Given the description of an element on the screen output the (x, y) to click on. 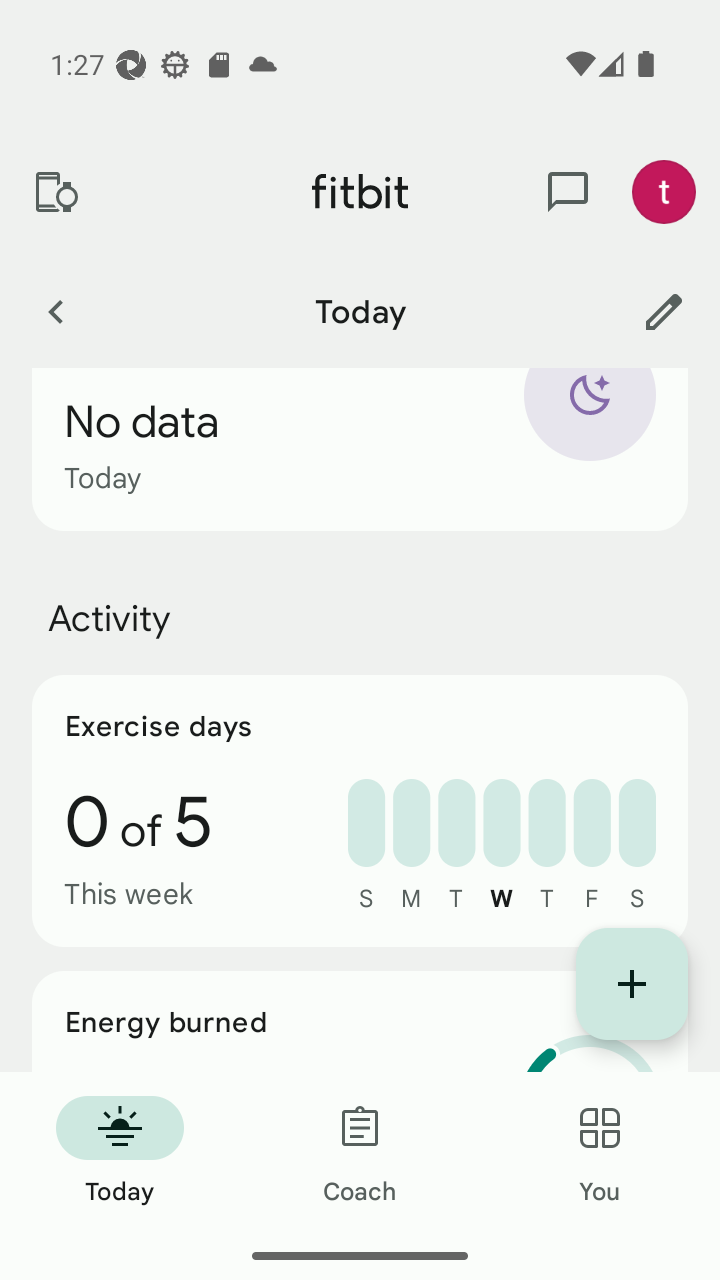
Devices and apps (55, 191)
messages and notifications (567, 191)
Previous Day (55, 311)
Customize (664, 311)
No data Today Sleep static arc (359, 449)
Exercise days 0 of 5 This week (359, 810)
Display list of quick log entries (632, 983)
Energy burned (359, 1021)
Coach (359, 1151)
You (600, 1151)
